Given the description of an element on the screen output the (x, y) to click on. 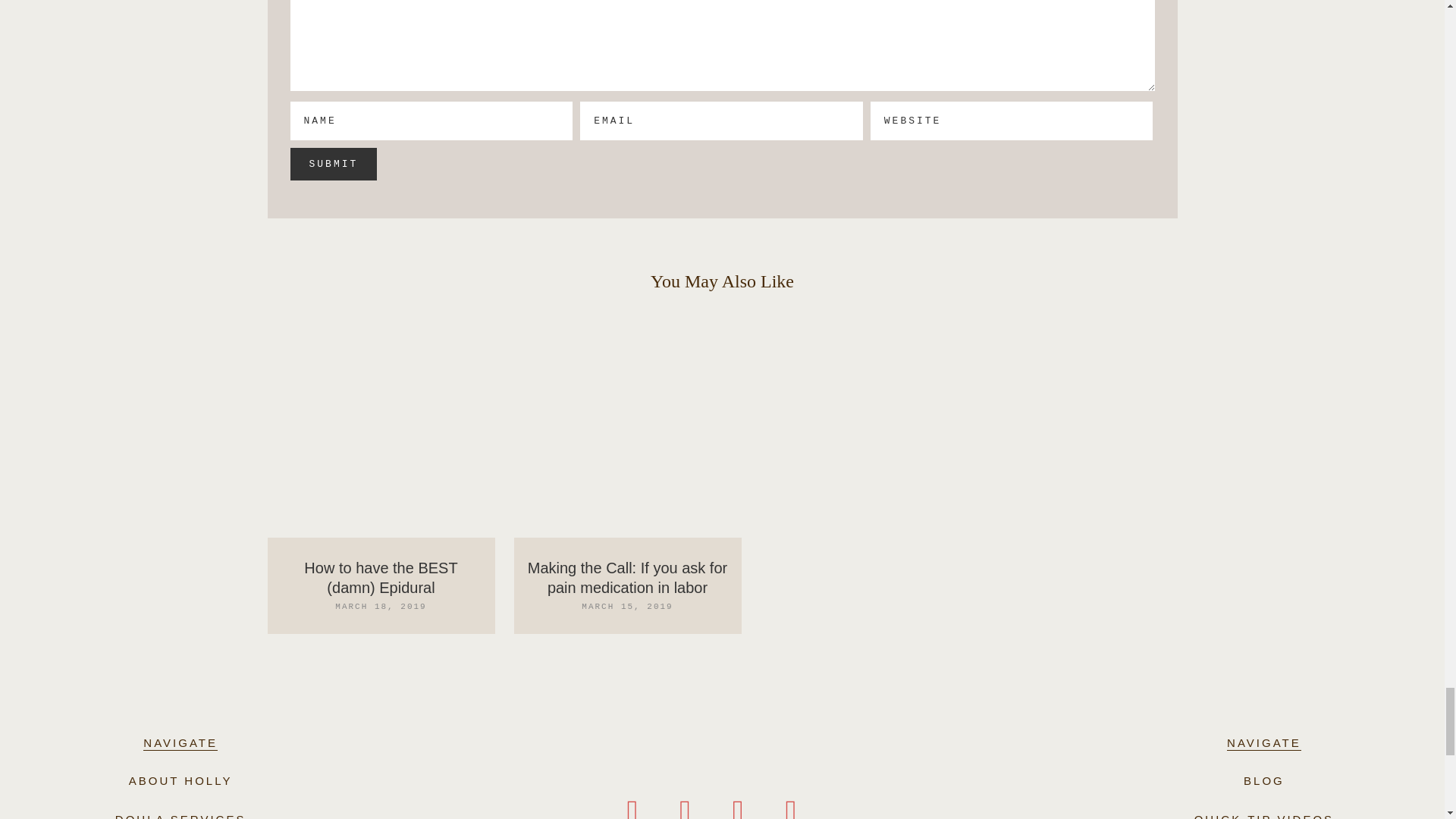
ABOUT HOLLY (180, 780)
Submit (333, 164)
Making the Call: If you ask for pain medication in labor (626, 577)
DOULA SERVICES (180, 816)
BLOG (1263, 780)
Submit (333, 164)
QUICK-TIP VIDEOS (1263, 816)
